Given the description of an element on the screen output the (x, y) to click on. 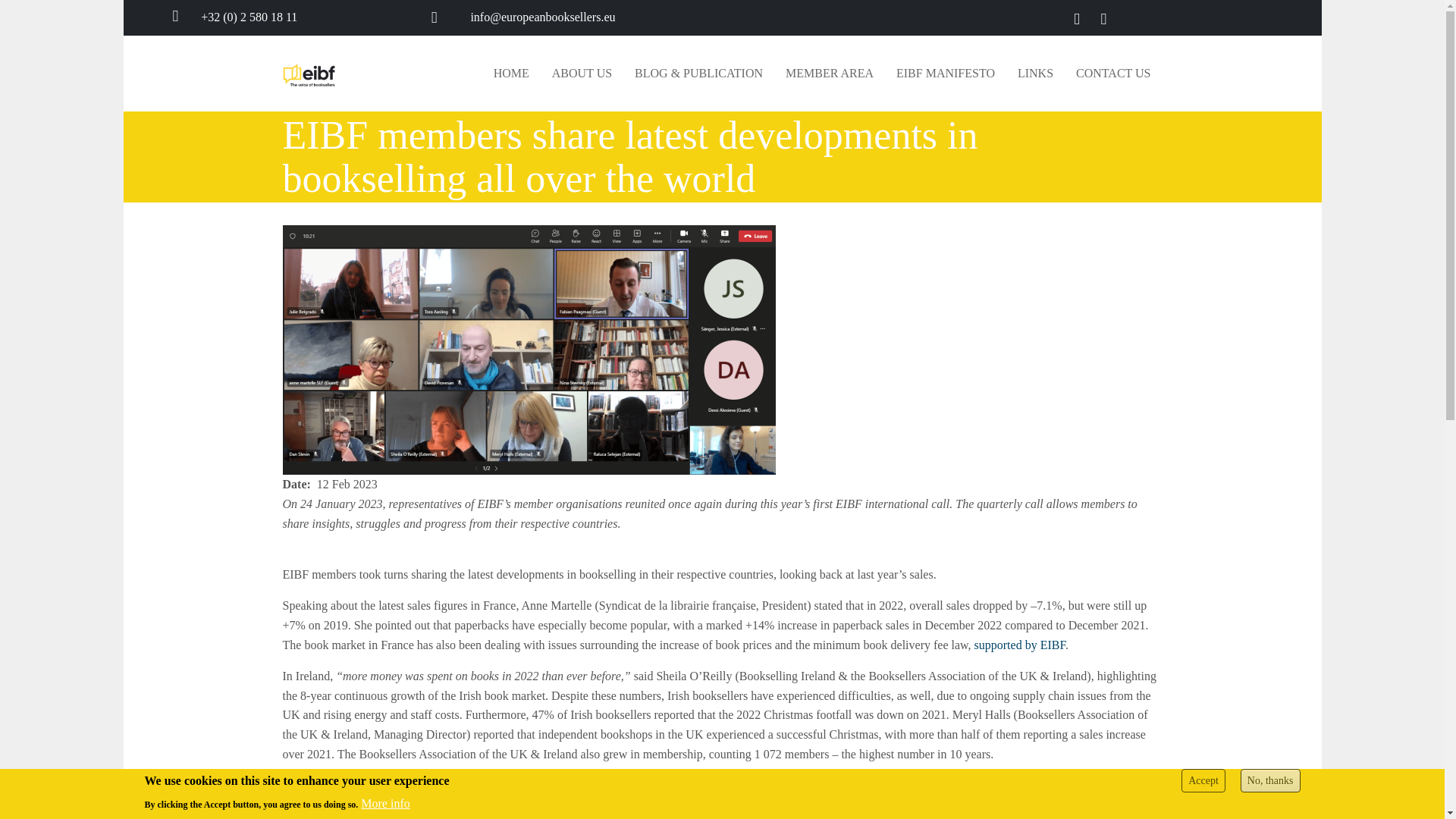
EIBF MANIFESTO (945, 73)
MEMBER AREA (829, 73)
facebook (1075, 19)
twitter (1103, 18)
facebook (1075, 18)
twitter (1103, 19)
ABOUT US (581, 73)
supported by EIBF (1019, 644)
CONTACT US (1112, 73)
